Given the description of an element on the screen output the (x, y) to click on. 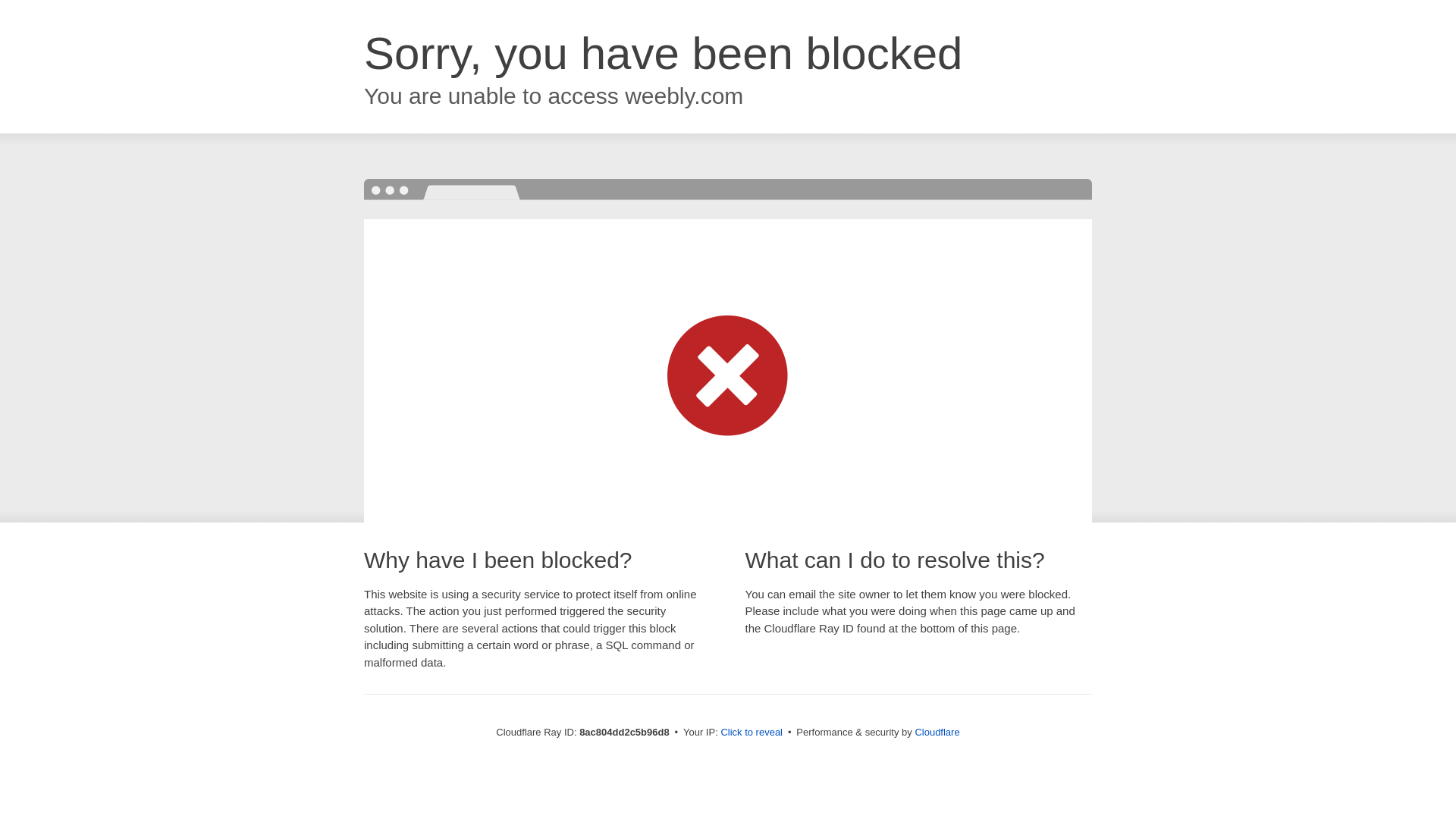
Cloudflare (936, 731)
Click to reveal (751, 732)
